Given the description of an element on the screen output the (x, y) to click on. 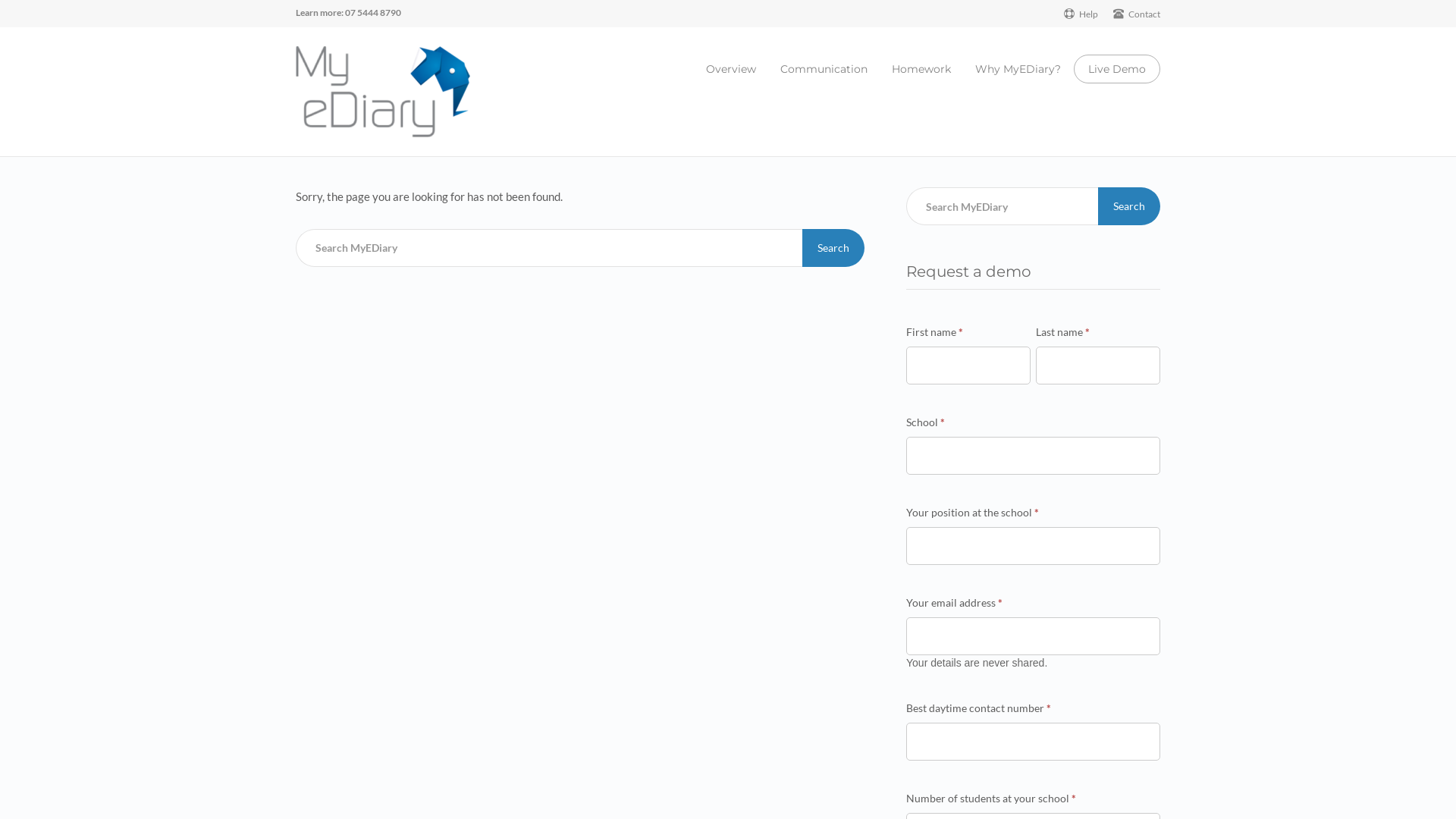
Search Element type: text (833, 247)
Contact Element type: text (1136, 13)
Overview Element type: text (731, 68)
Live Demo Element type: text (1116, 68)
Why MyEDiary? Element type: text (1017, 68)
Homework Element type: text (920, 68)
Search Element type: text (1129, 206)
Help Element type: text (1080, 13)
Communication Element type: text (823, 68)
